Given the description of an element on the screen output the (x, y) to click on. 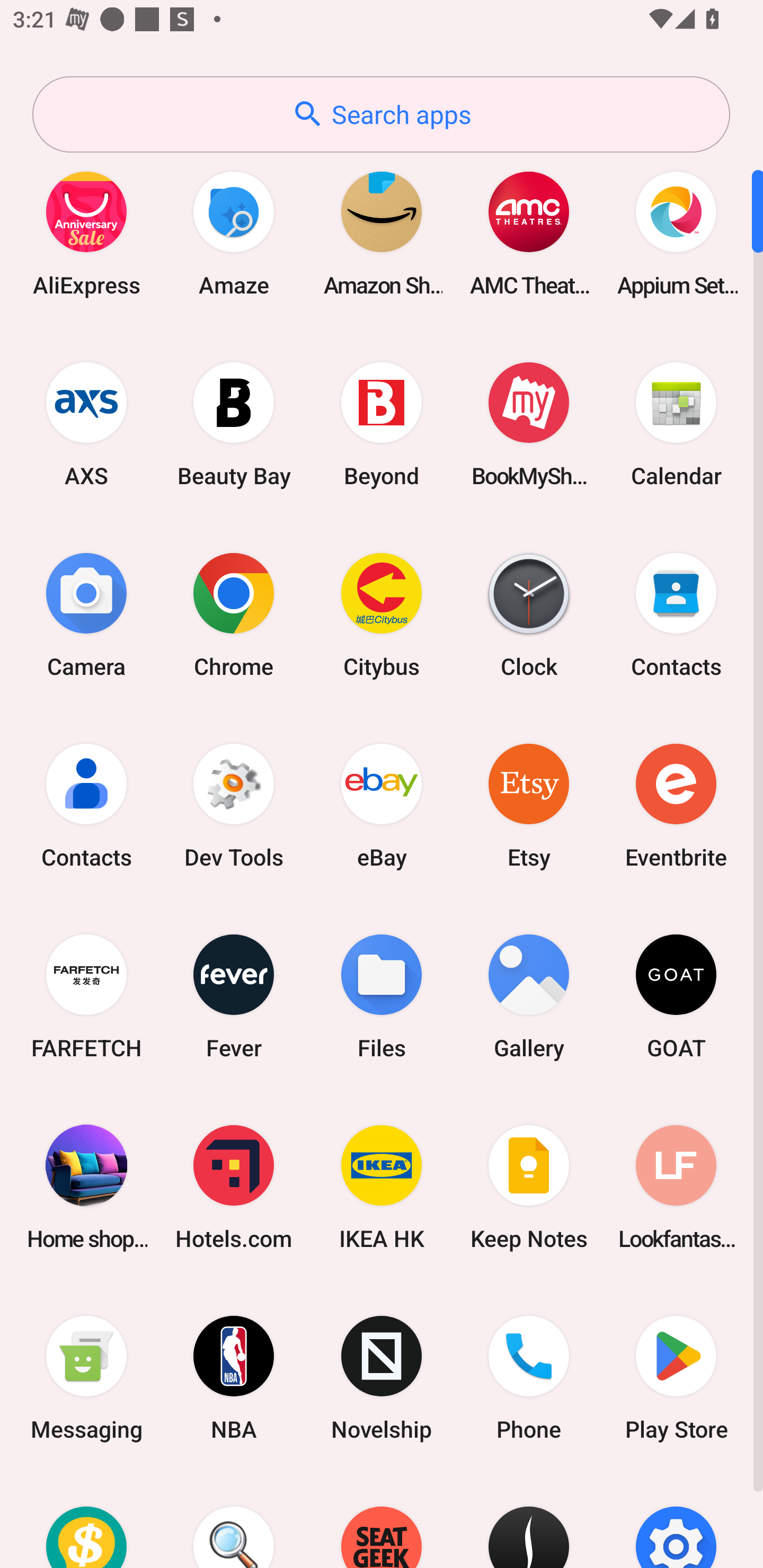
  Search apps (381, 114)
AliExpress (86, 233)
Amaze (233, 233)
Amazon Shopping (381, 233)
AMC Theatres (528, 233)
Appium Settings (676, 233)
AXS (86, 424)
Beauty Bay (233, 424)
Beyond (381, 424)
BookMyShow (528, 424)
Calendar (676, 424)
Camera (86, 614)
Chrome (233, 614)
Citybus (381, 614)
Clock (528, 614)
Contacts (676, 614)
Contacts (86, 805)
Dev Tools (233, 805)
eBay (381, 805)
Etsy (528, 805)
Eventbrite (676, 805)
FARFETCH (86, 996)
Fever (233, 996)
Files (381, 996)
Gallery (528, 996)
GOAT (676, 996)
Home shopping (86, 1186)
Hotels.com (233, 1186)
IKEA HK (381, 1186)
Keep Notes (528, 1186)
Lookfantastic (676, 1186)
Messaging (86, 1377)
NBA (233, 1377)
Novelship (381, 1377)
Phone (528, 1377)
Play Store (676, 1377)
Price (86, 1520)
Search (233, 1520)
SeatGeek (381, 1520)
Sephora (528, 1520)
Settings (676, 1520)
